Given the description of an element on the screen output the (x, y) to click on. 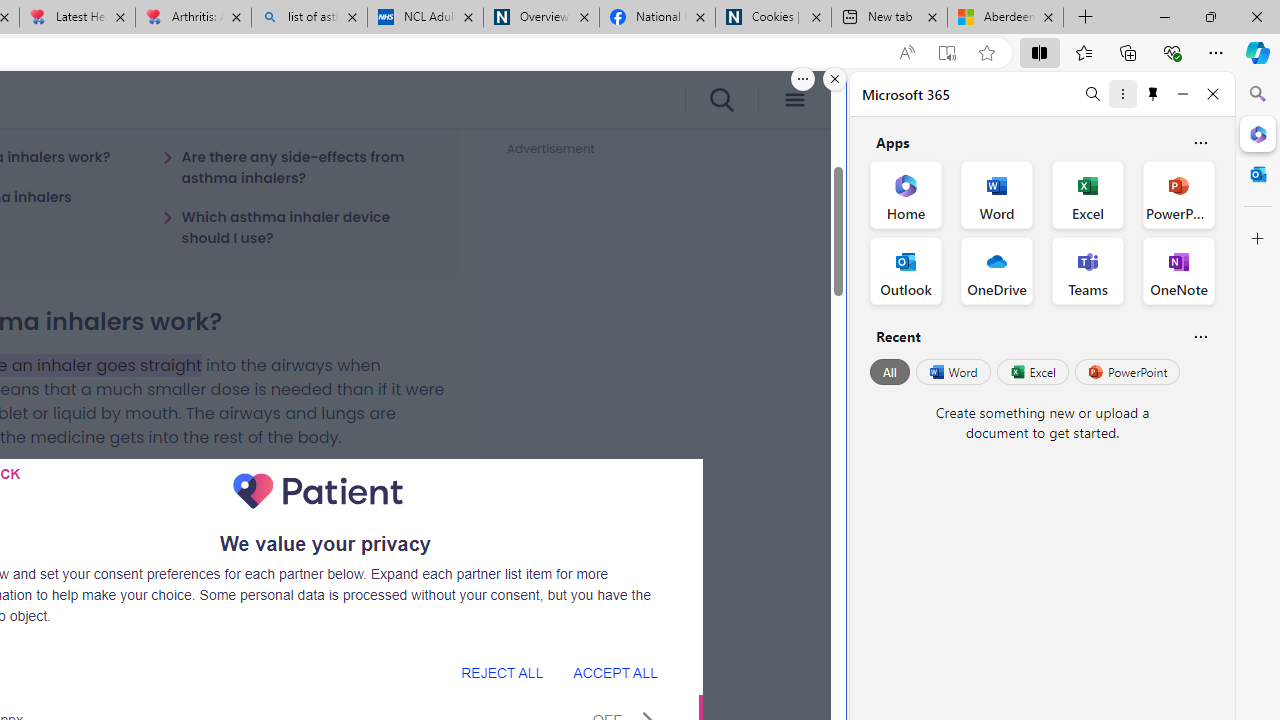
Excel (1031, 372)
Publisher Logo (317, 491)
Unpin side pane (1153, 93)
Close split screen. (835, 79)
Home Office App (906, 194)
list of asthma inhalers uk - Search (309, 17)
search (720, 99)
OneDrive Office App (996, 270)
